Given the description of an element on the screen output the (x, y) to click on. 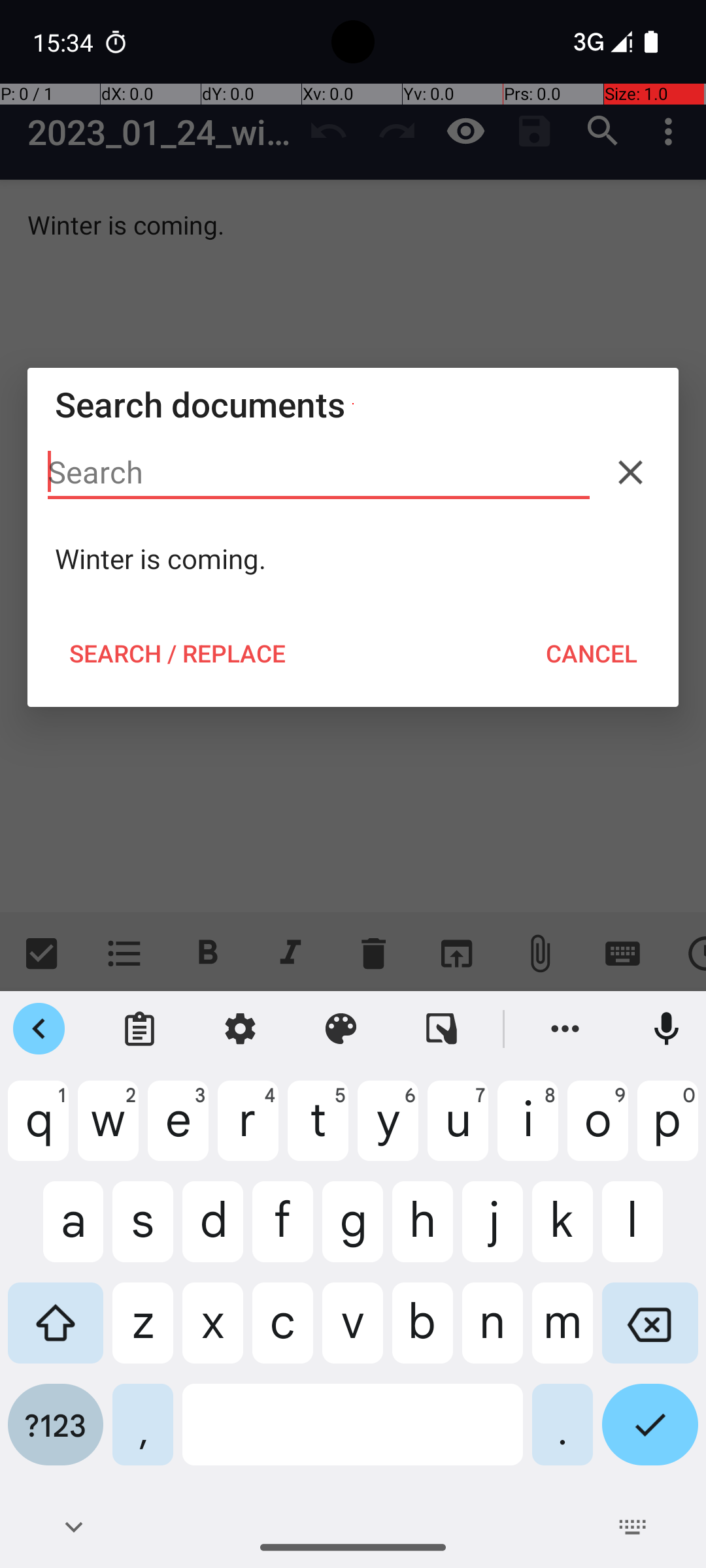
Winter is coming. Element type: android.widget.TextView (352, 558)
